Given the description of an element on the screen output the (x, y) to click on. 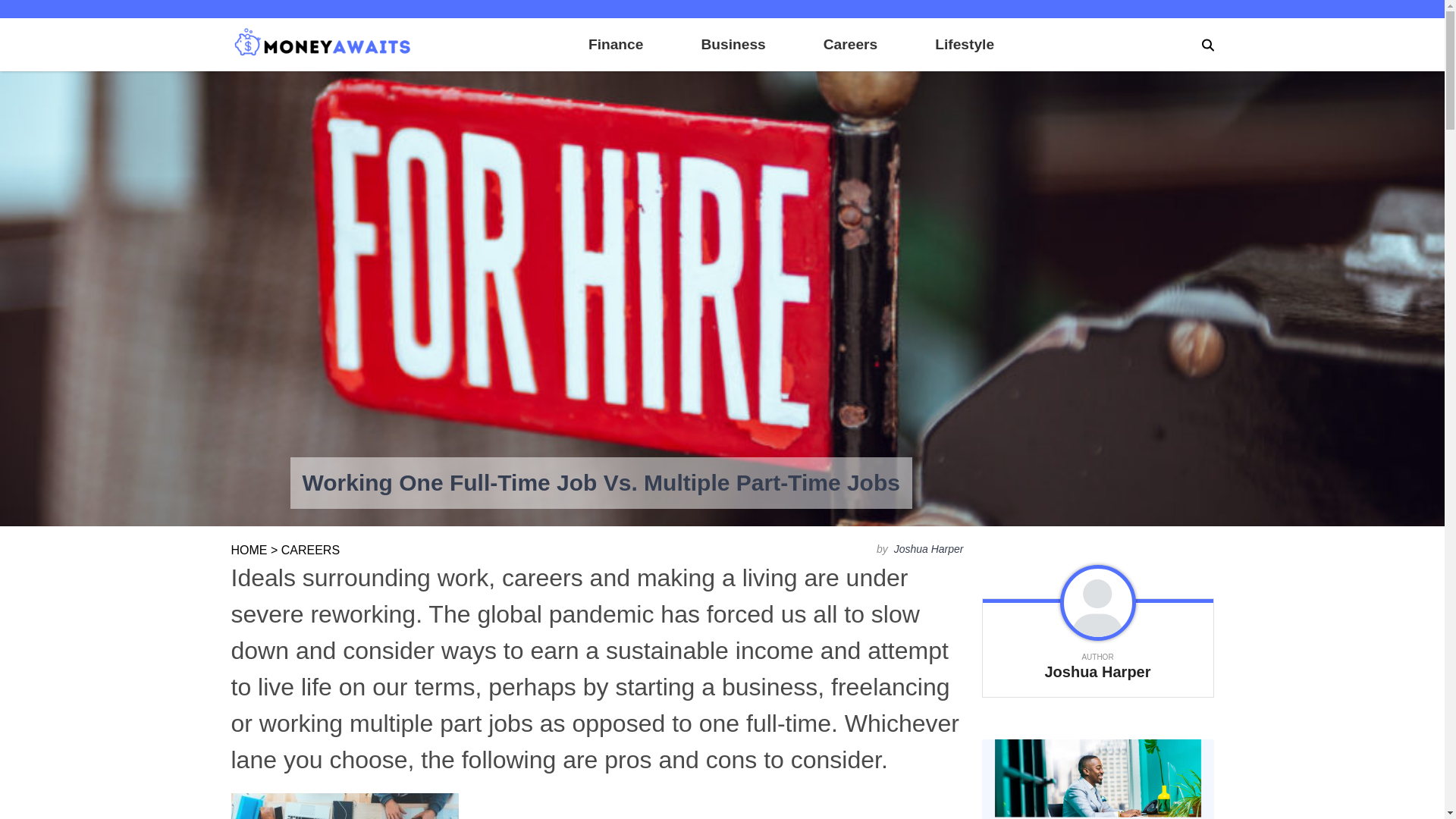
Careers (850, 44)
Business (732, 44)
CAREERS (310, 549)
Lifestyle (964, 44)
Finance (615, 44)
Joshua Harper (927, 548)
HOME (248, 549)
